Given the description of an element on the screen output the (x, y) to click on. 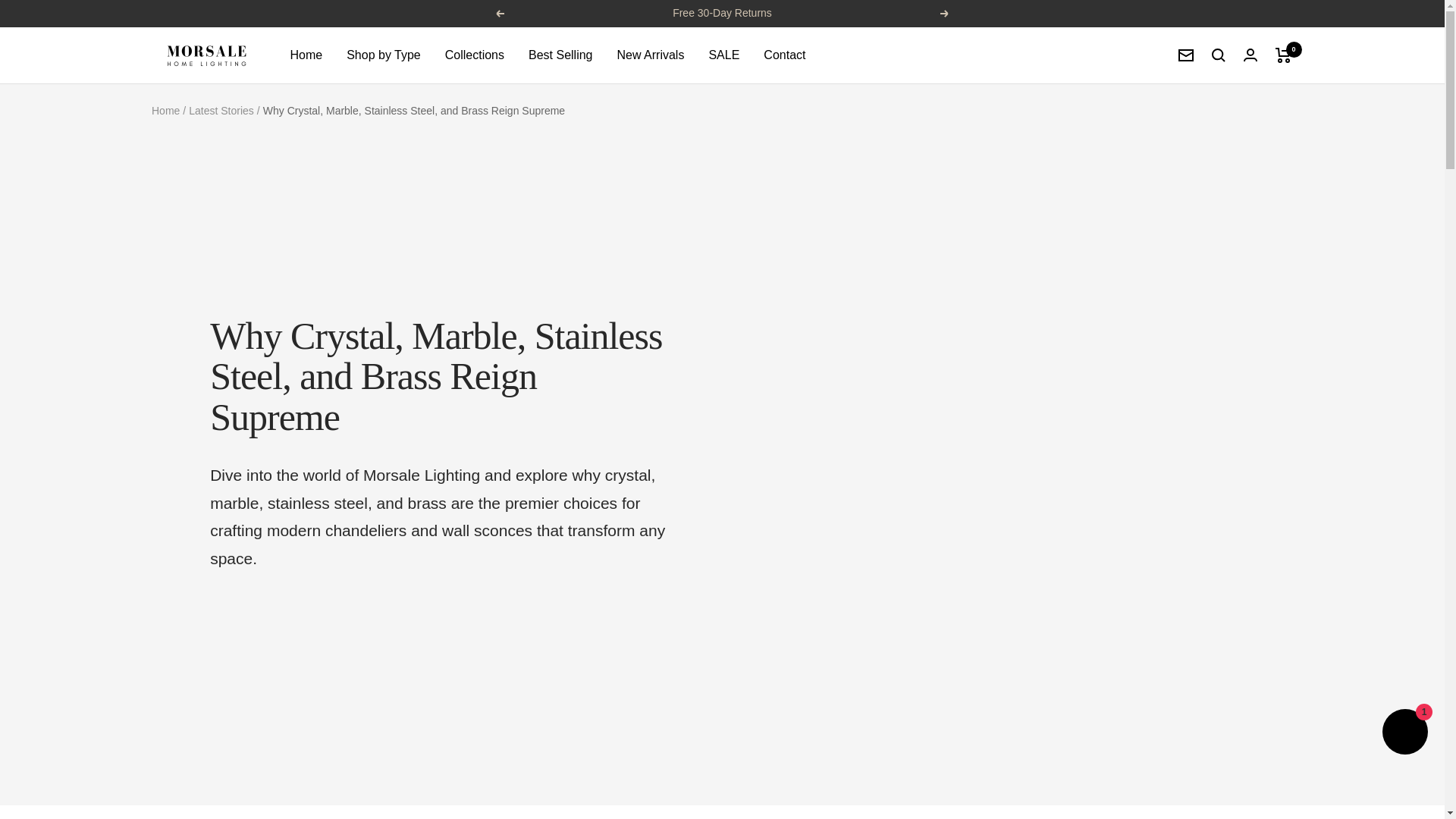
0 (1283, 55)
Next (944, 13)
Previous (499, 13)
Shop by Type (383, 55)
New Arrivals (650, 55)
Newsletter (1185, 55)
Collections (474, 55)
Morsale.com (205, 55)
Home (305, 55)
Best Selling (560, 55)
Contact (783, 55)
SALE (723, 55)
Shopify online store chat (1404, 733)
Latest Stories (221, 110)
Home (165, 110)
